Given the description of an element on the screen output the (x, y) to click on. 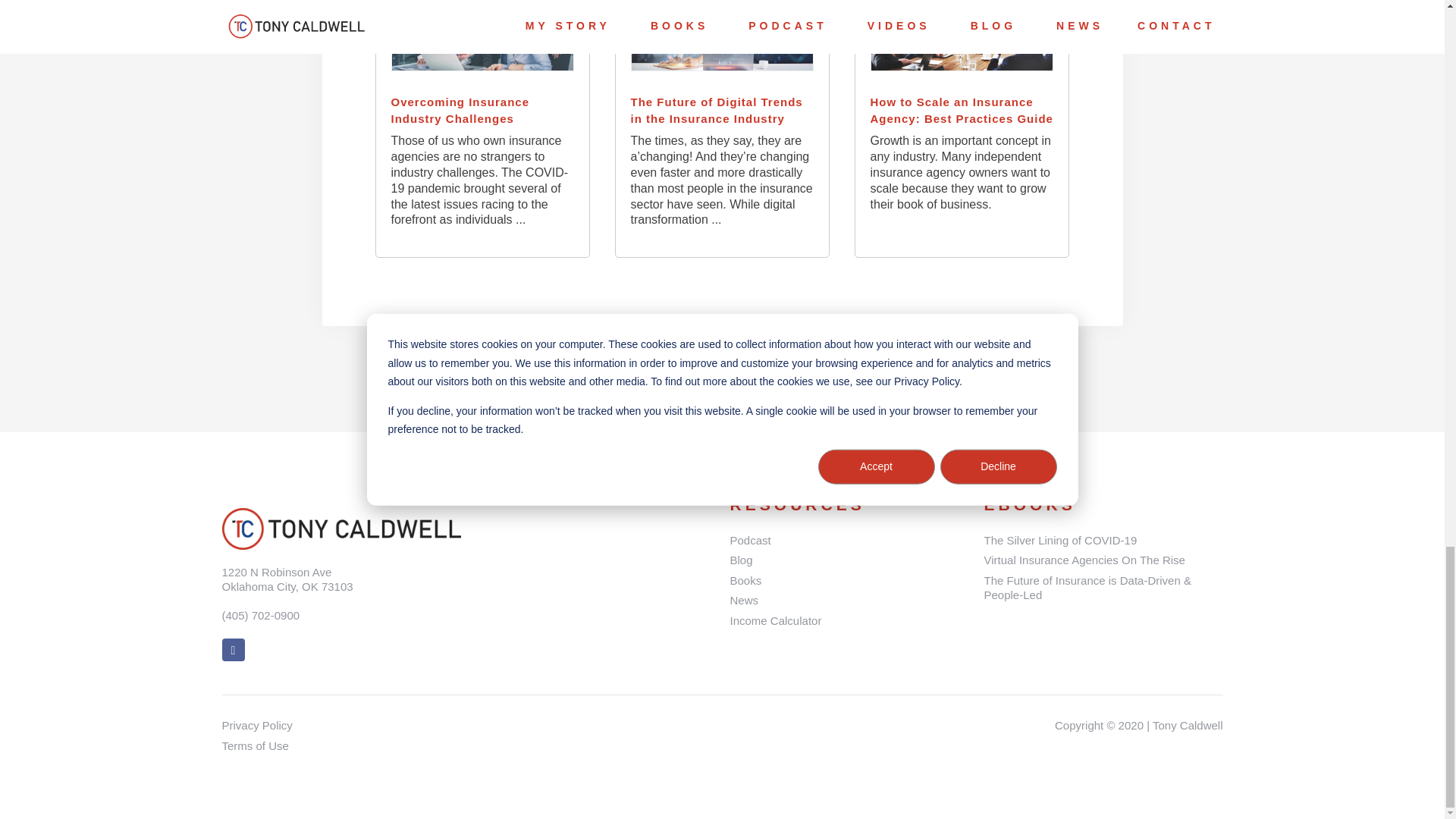
Income Calculator (848, 620)
How to Scale an Insurance Agency: Best Practices Guide (962, 110)
Podcast (848, 540)
Overcoming Insurance Industry Challenges (483, 110)
The Future of Digital Trends in the Insurance Industry (721, 110)
News (848, 600)
RESOURCES (796, 504)
Books (848, 580)
Blog (848, 560)
